Given the description of an element on the screen output the (x, y) to click on. 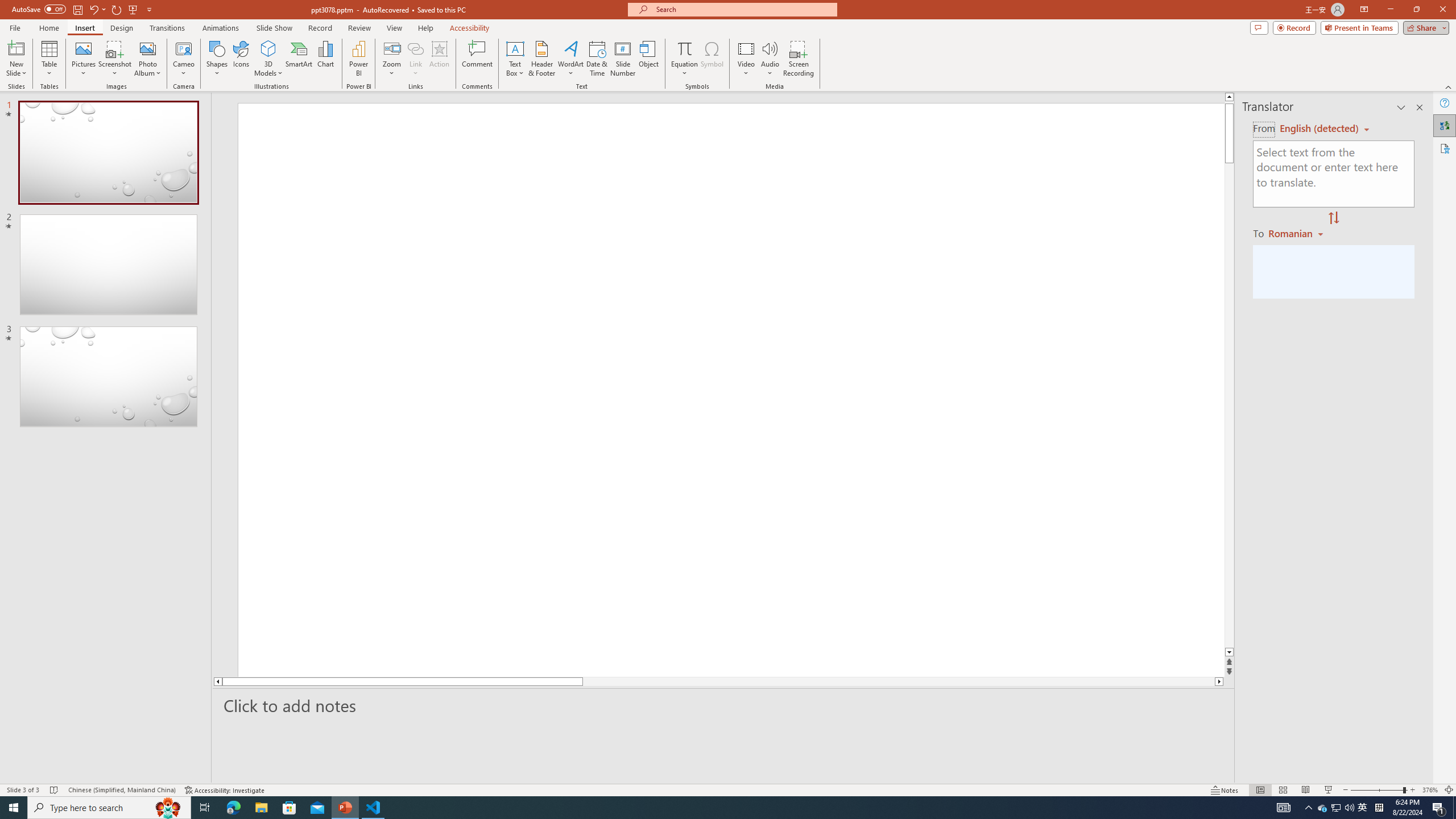
WordArt (570, 58)
Equation (683, 58)
Chart... (325, 58)
Icons (240, 58)
Photo Album... (147, 58)
